Given the description of an element on the screen output the (x, y) to click on. 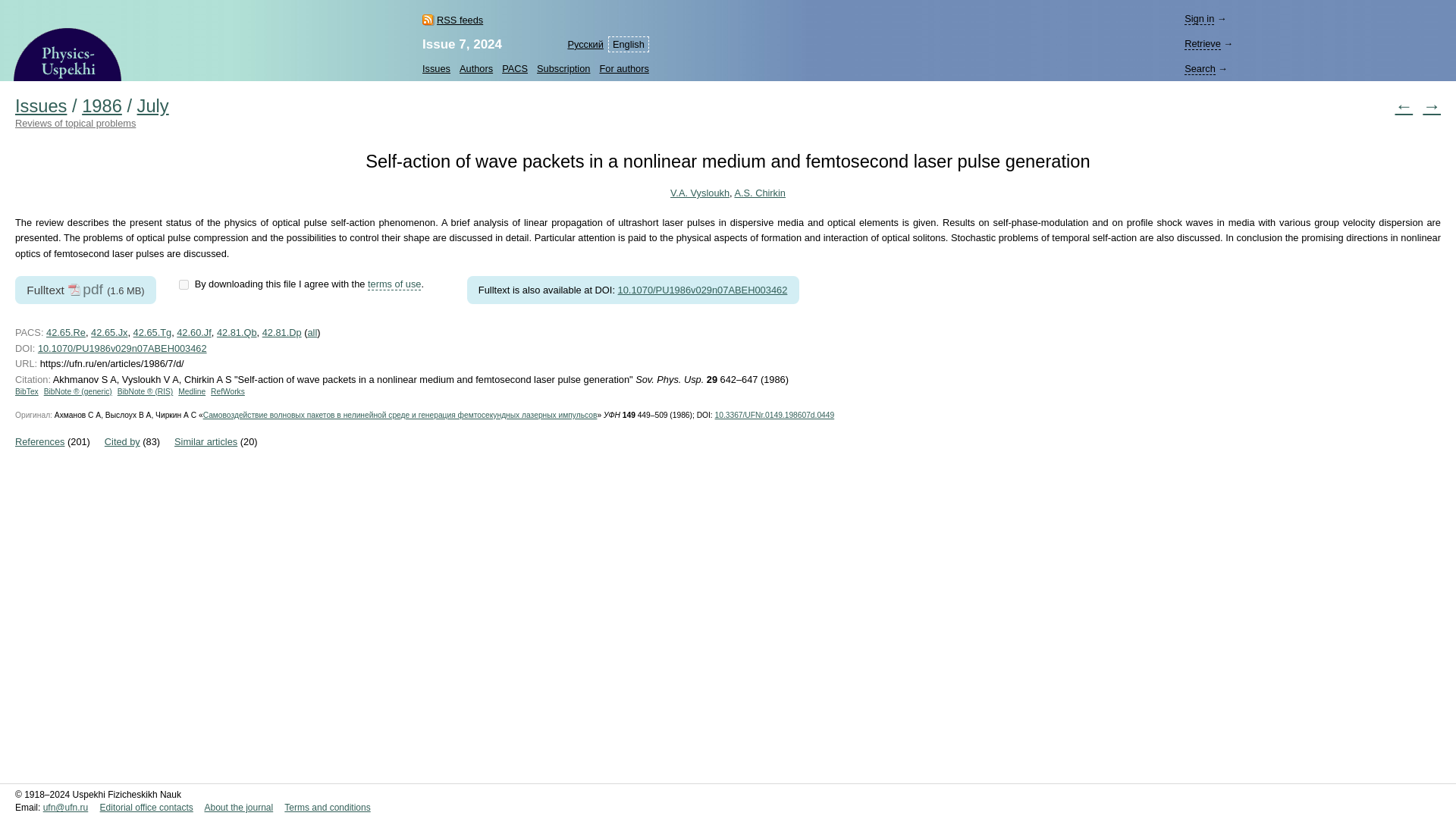
Information for authors (620, 68)
RSS feeds (452, 19)
Sign in (1199, 19)
Search (1200, 69)
42.65.Tg (152, 332)
Issue 7, 2024 (462, 43)
42.60.Jf (193, 332)
1986 (101, 106)
42.81.Dp (281, 332)
BibTex (26, 391)
